Given the description of an element on the screen output the (x, y) to click on. 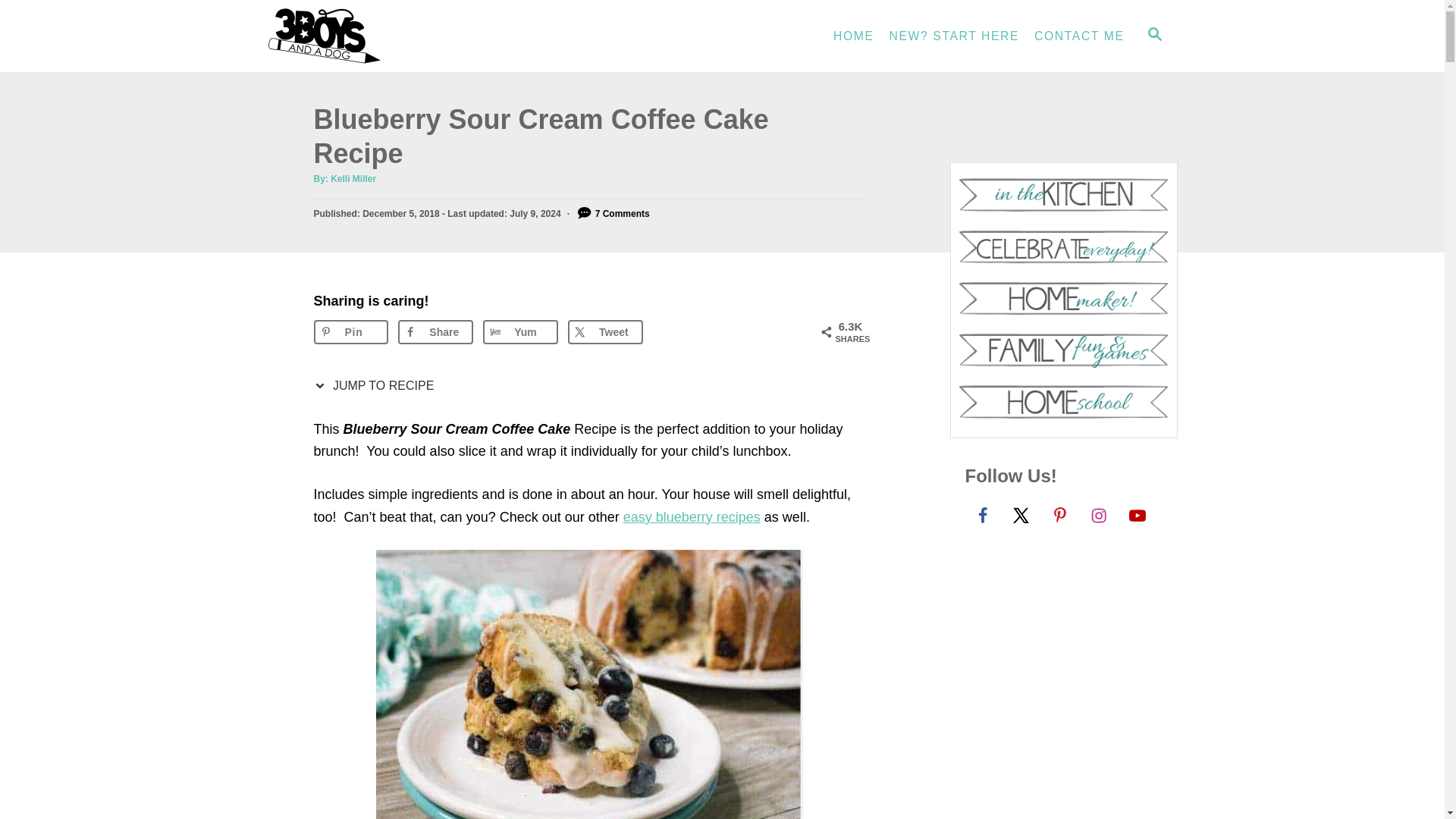
CONTACT ME (1078, 36)
Yum (520, 331)
Share (435, 331)
Kelli Miller (352, 178)
NEW? START HERE (954, 36)
3 Boys and a Dog (403, 36)
Share on Yummly (520, 331)
Save to Pinterest (351, 331)
Share on Facebook (435, 331)
HOME (853, 36)
